Given the description of an element on the screen output the (x, y) to click on. 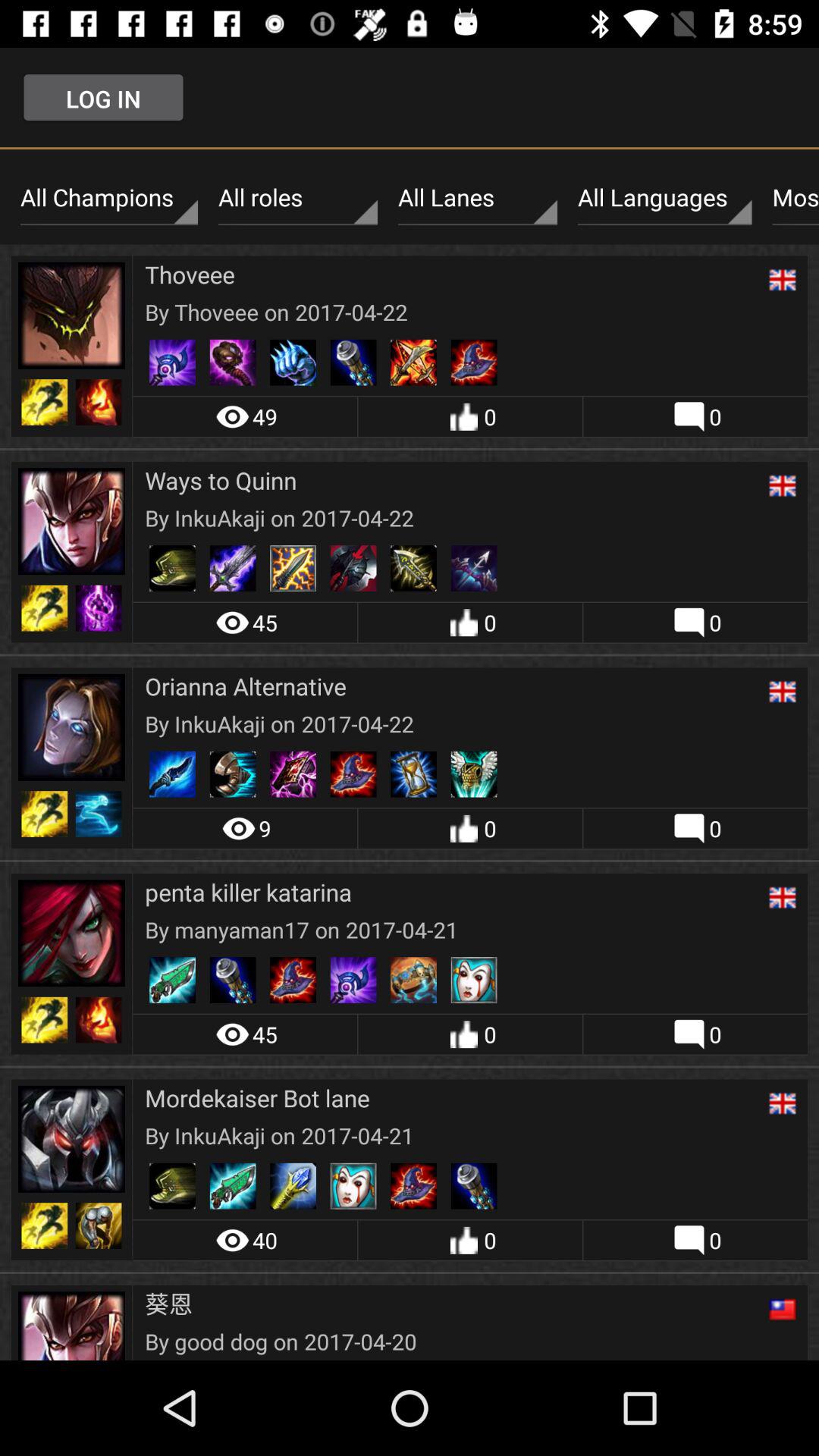
select the icon to the right of the all roles icon (477, 198)
